Given the description of an element on the screen output the (x, y) to click on. 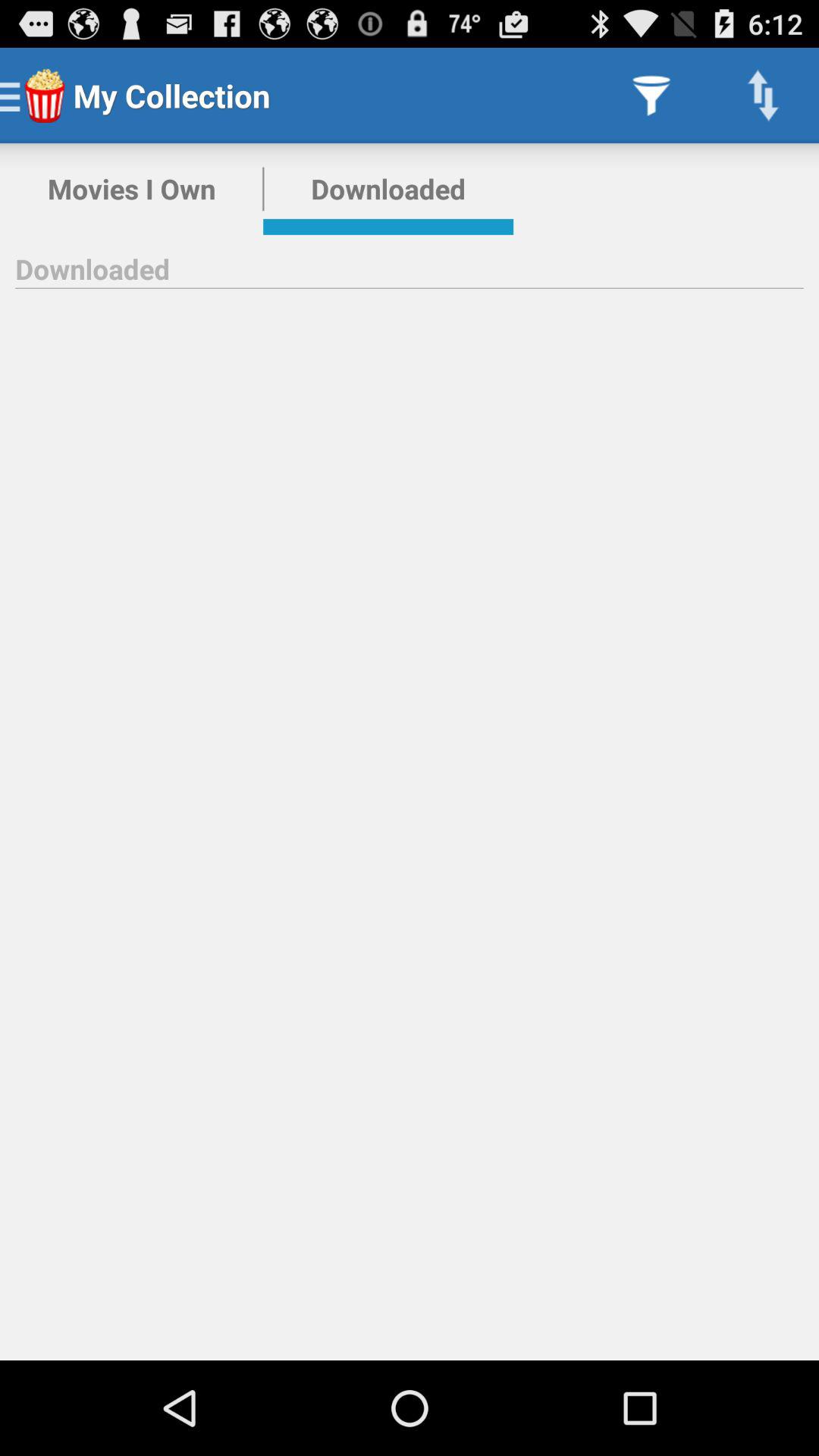
flip to the movies i own (131, 188)
